Given the description of an element on the screen output the (x, y) to click on. 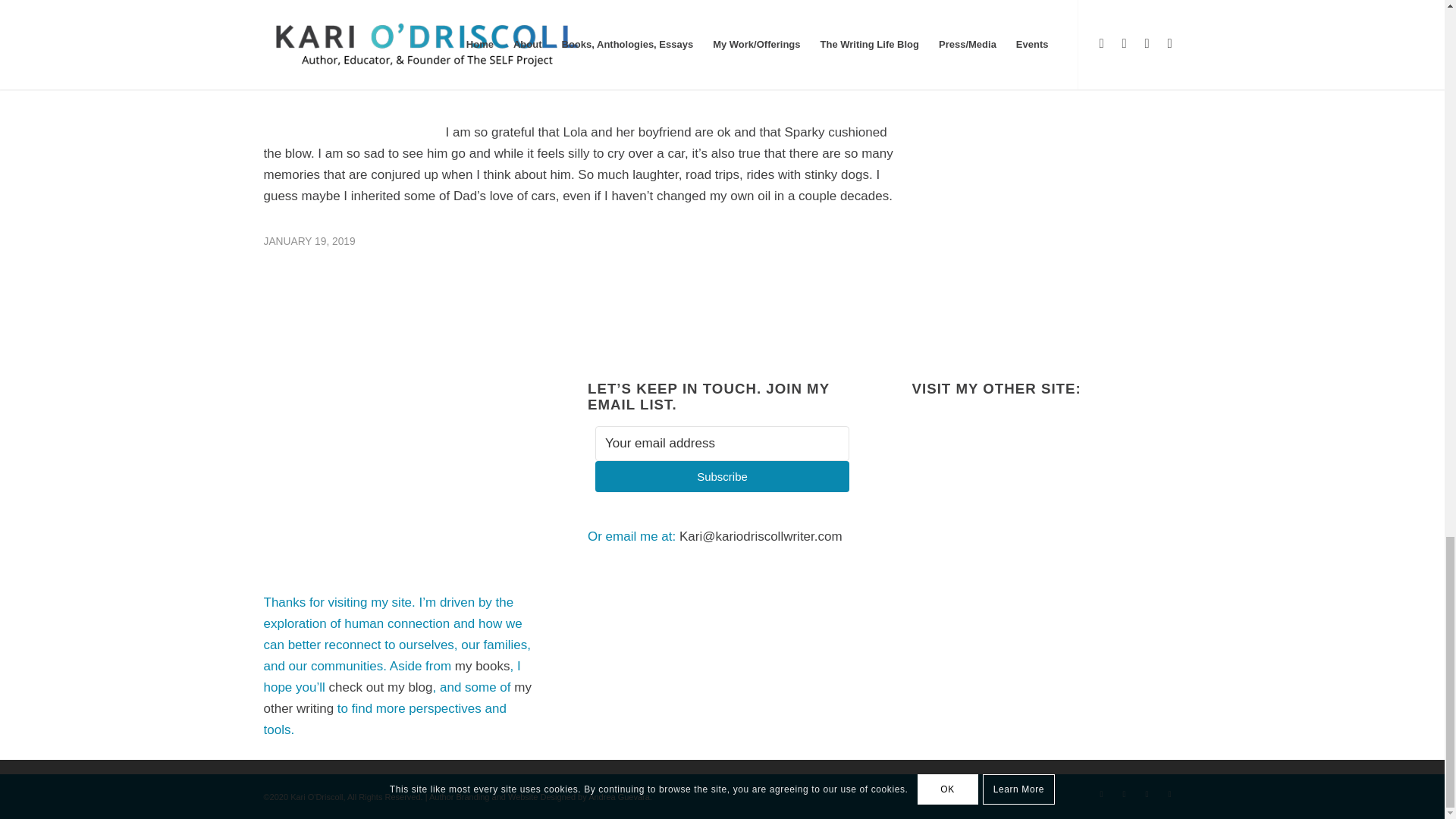
check out my blog (380, 687)
my books (482, 666)
other books (1028, 78)
Instagram (1169, 793)
Facebook (1101, 793)
X (1124, 793)
LinkedIn (1146, 793)
Subscribe (721, 476)
Andrea Guevara. (620, 796)
my other writing (397, 697)
